Given the description of an element on the screen output the (x, y) to click on. 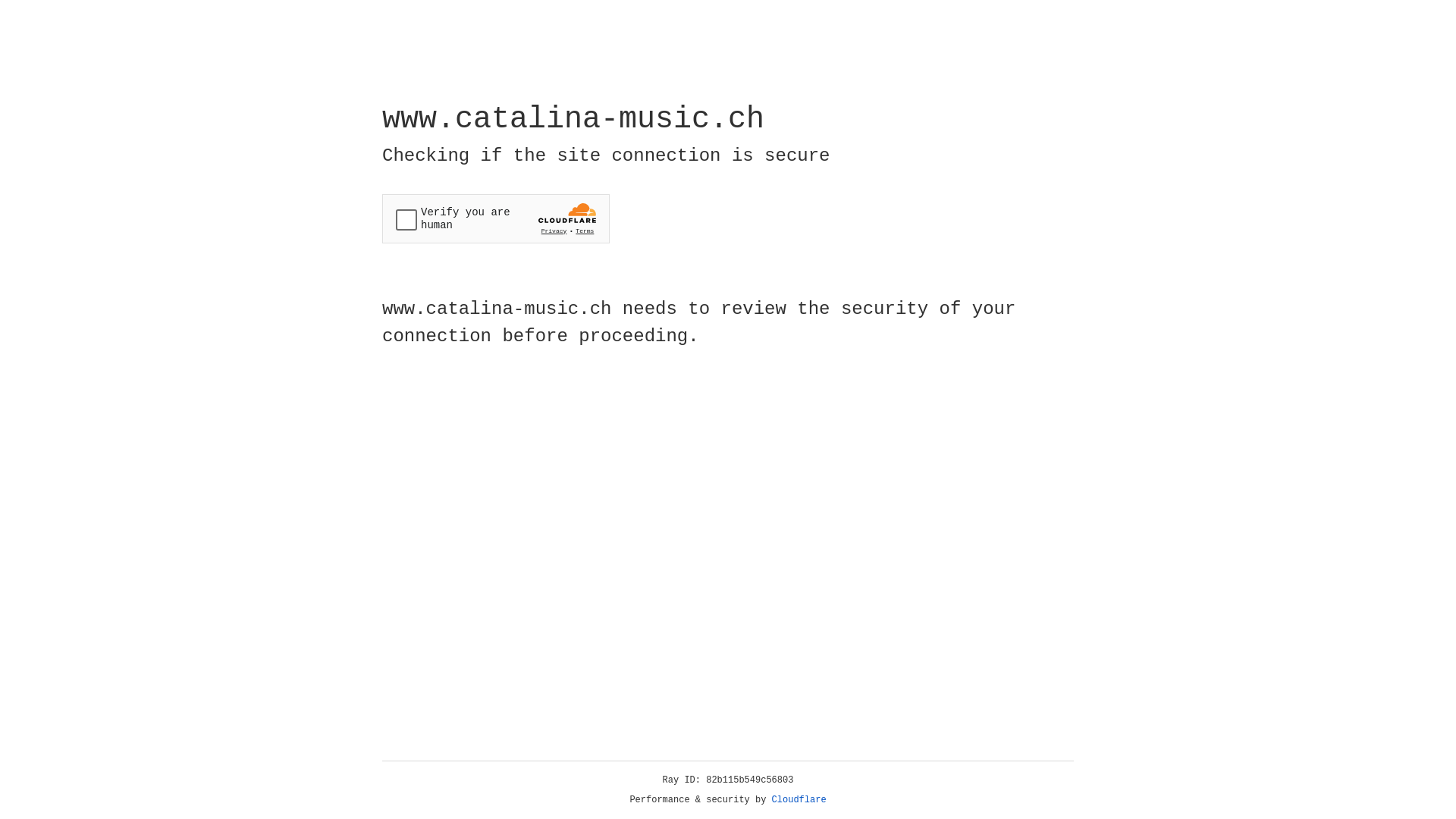
Cloudflare Element type: text (798, 799)
Widget containing a Cloudflare security challenge Element type: hover (495, 218)
